Given the description of an element on the screen output the (x, y) to click on. 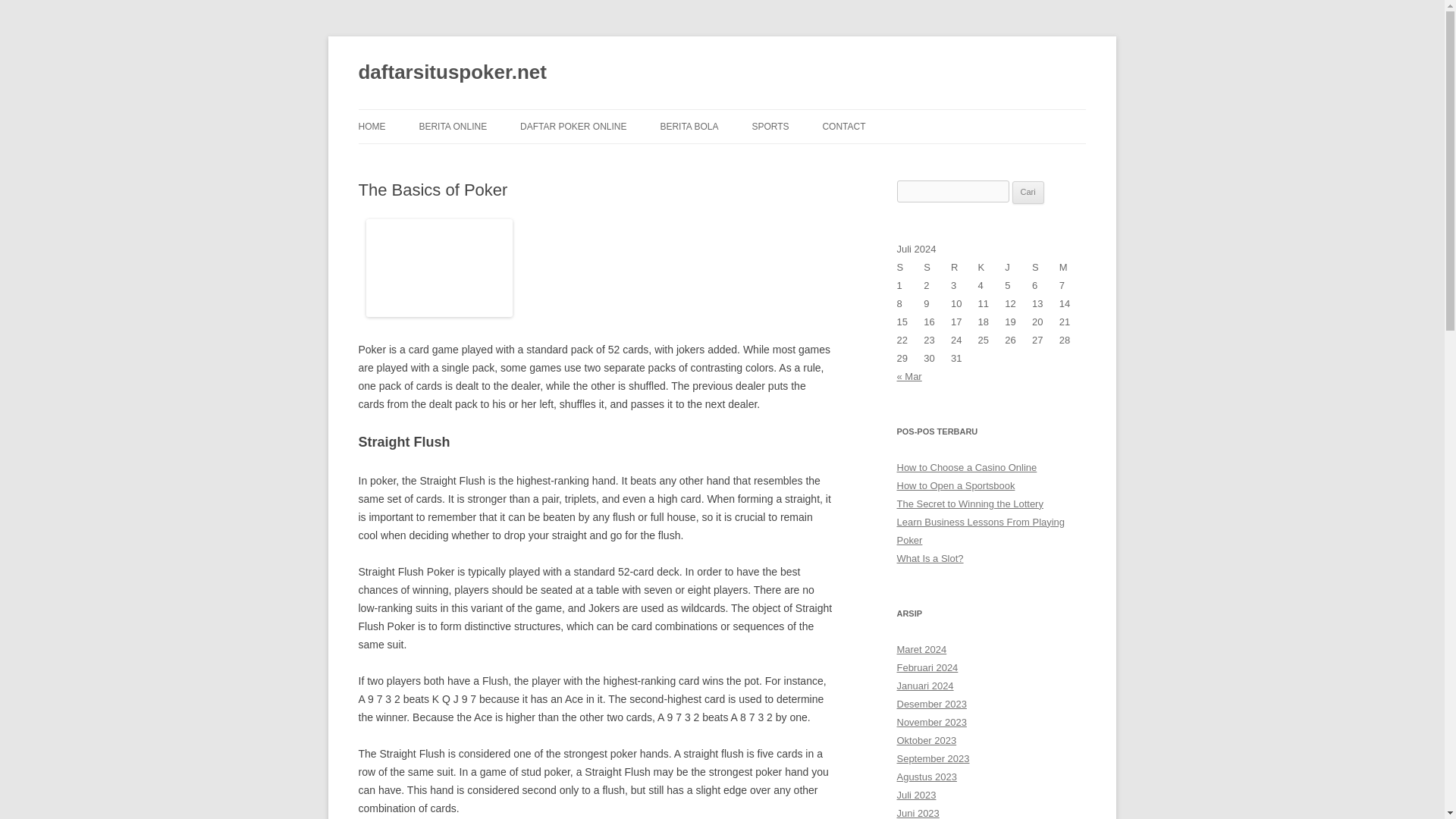
Desember 2023 (931, 704)
Oktober 2023 (926, 740)
Senin (909, 267)
Maret 2024 (921, 649)
Februari 2024 (927, 667)
Rabu (964, 267)
DAFTAR POKER ONLINE (572, 126)
Kamis (992, 267)
Cari (1027, 191)
November 2023 (931, 722)
SPORTS (770, 126)
BERITA BOLA (688, 126)
CONTACT (843, 126)
Learn Business Lessons From Playing Poker (980, 531)
Minggu (1072, 267)
